Given the description of an element on the screen output the (x, y) to click on. 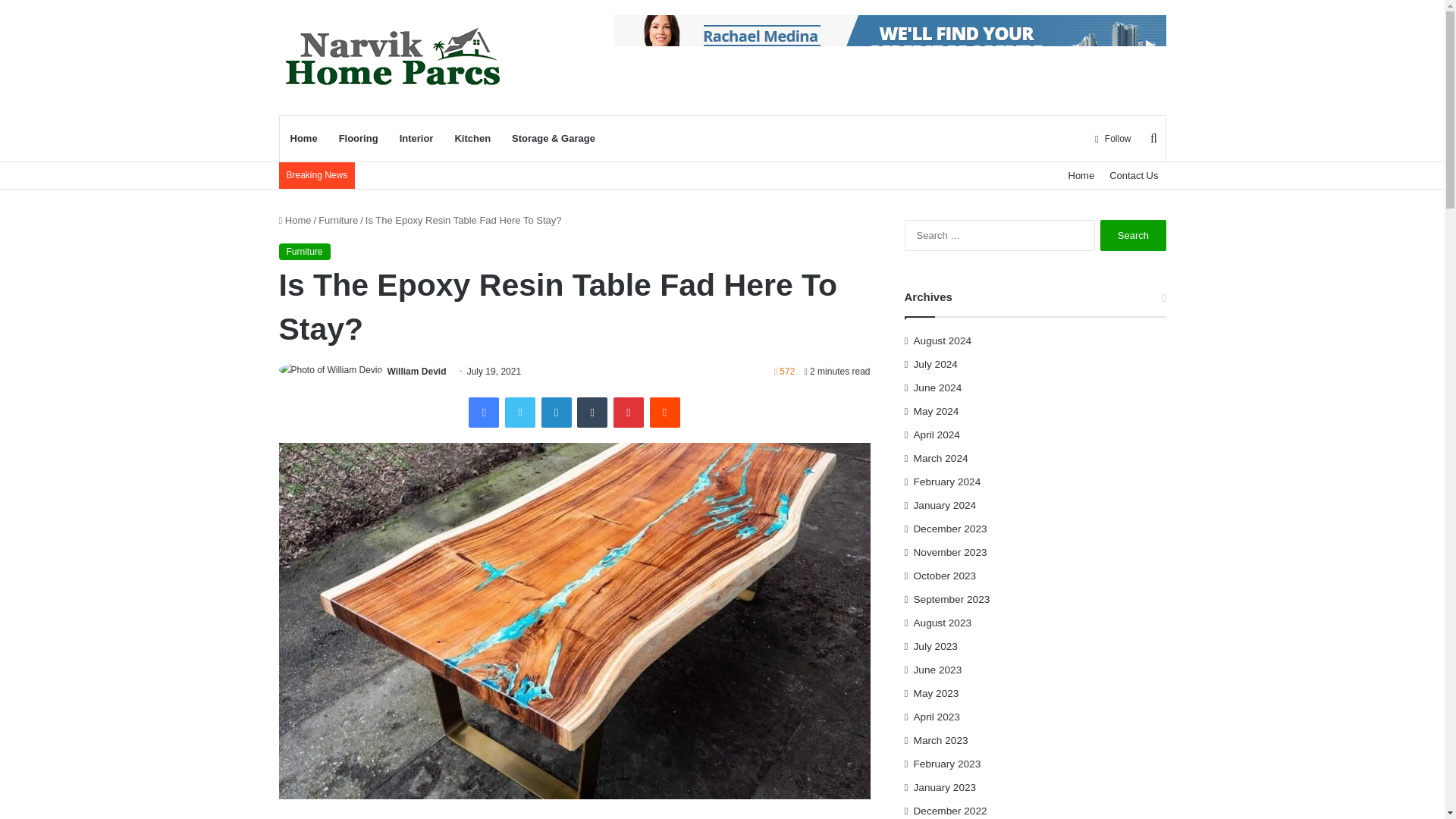
Furniture (338, 220)
William Devid (416, 371)
Flooring (358, 138)
Pinterest (627, 412)
Home (1080, 175)
Kitchen (472, 138)
William Devid (416, 371)
Tumblr (591, 412)
Twitter (520, 412)
narvik home parcs (392, 57)
